Given the description of an element on the screen output the (x, y) to click on. 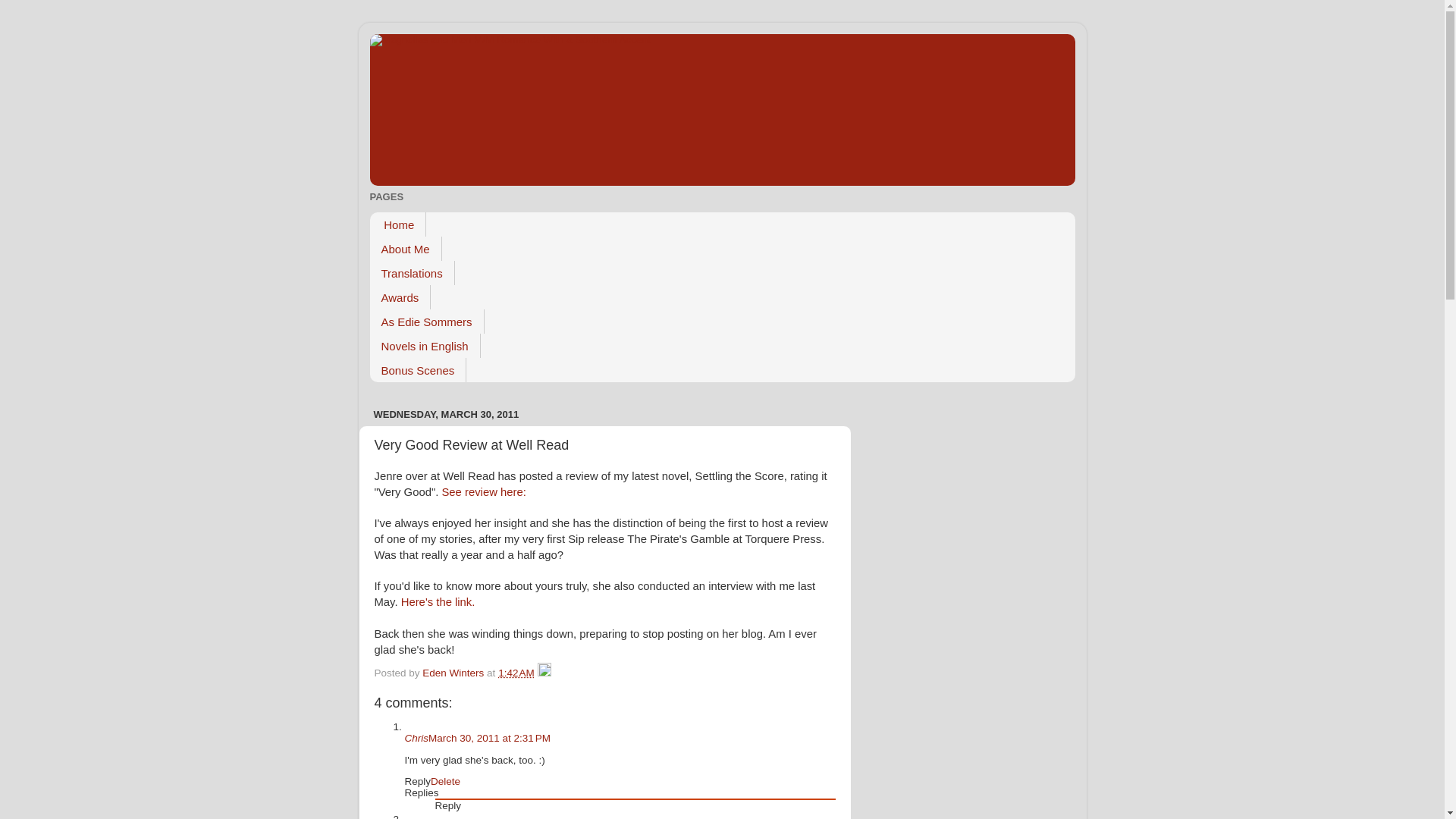
Chris (416, 737)
Novels in English (424, 345)
author profile (454, 672)
Translations (411, 273)
Here's the link.  (440, 602)
About Me (405, 248)
Replies (421, 792)
Bonus Scenes (418, 369)
Reply (448, 805)
As Edie Sommers (426, 321)
Awards (399, 297)
Home (397, 224)
See review here: (483, 491)
